Given the description of an element on the screen output the (x, y) to click on. 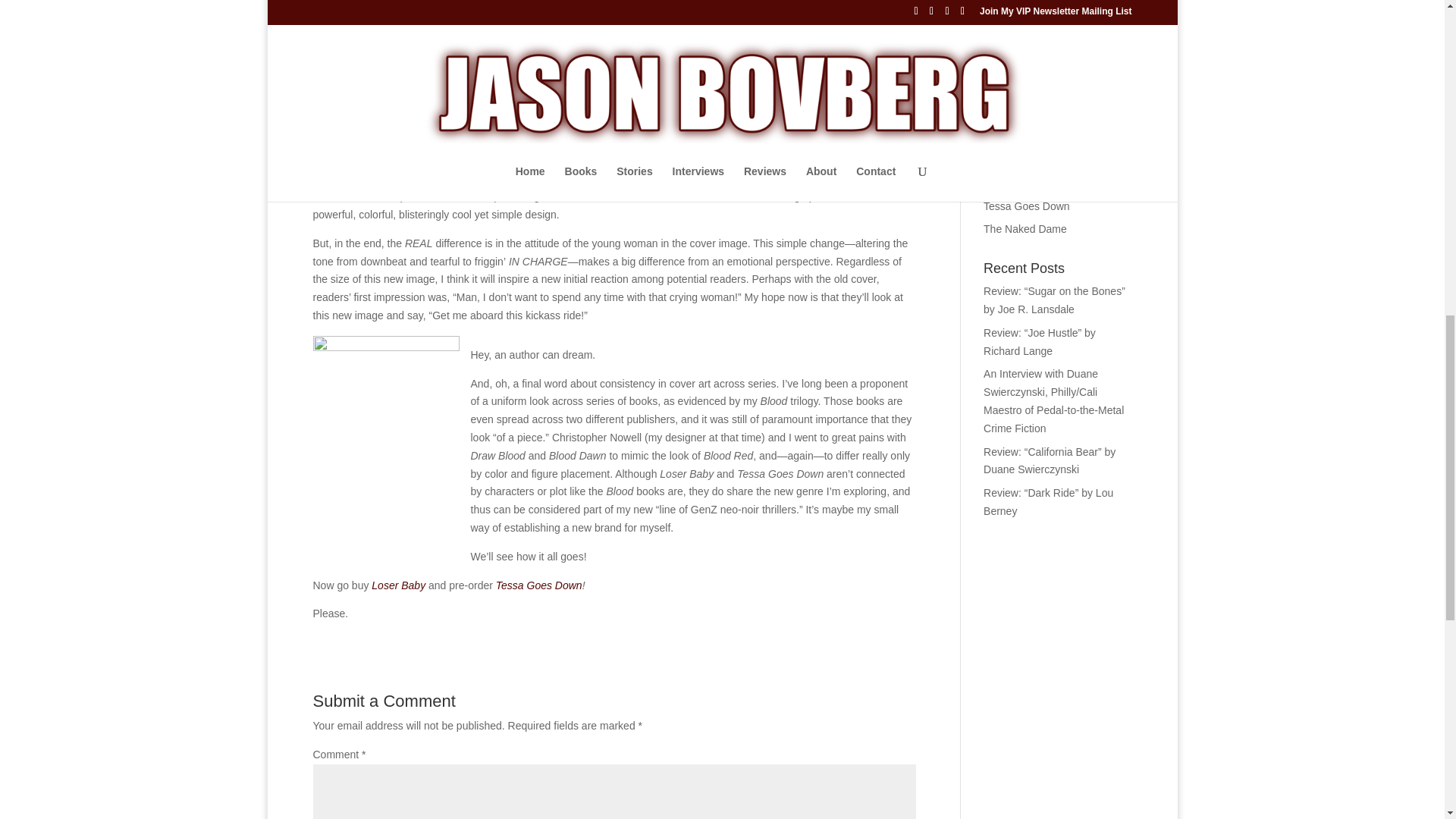
Tessa Goes Down (539, 585)
Tessa Goes Down (550, 79)
Loser Baby (398, 585)
Loser Baby (562, 70)
Loser Baby (459, 0)
